Given the description of an element on the screen output the (x, y) to click on. 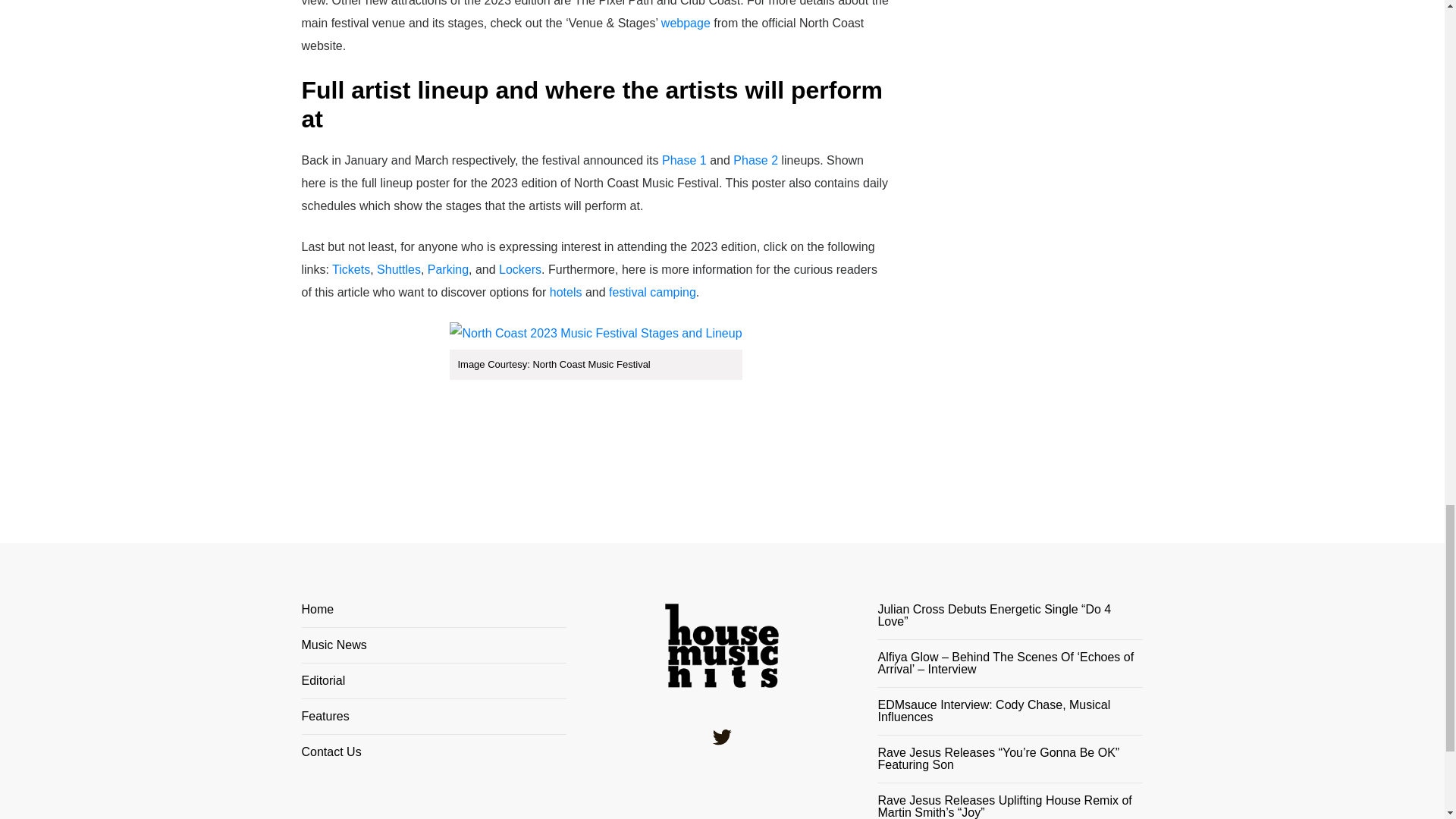
festival camping (651, 291)
Shuttles (398, 269)
Advertisement (1035, 221)
Music News (434, 651)
webpage (685, 22)
Contact Us (434, 752)
Tickets (350, 269)
hotels (566, 291)
Parking (448, 269)
Editorial (434, 686)
Home (434, 615)
Twitter (721, 736)
Phase 2 (755, 160)
Lockers (520, 269)
Phase 1 (684, 160)
